Given the description of an element on the screen output the (x, y) to click on. 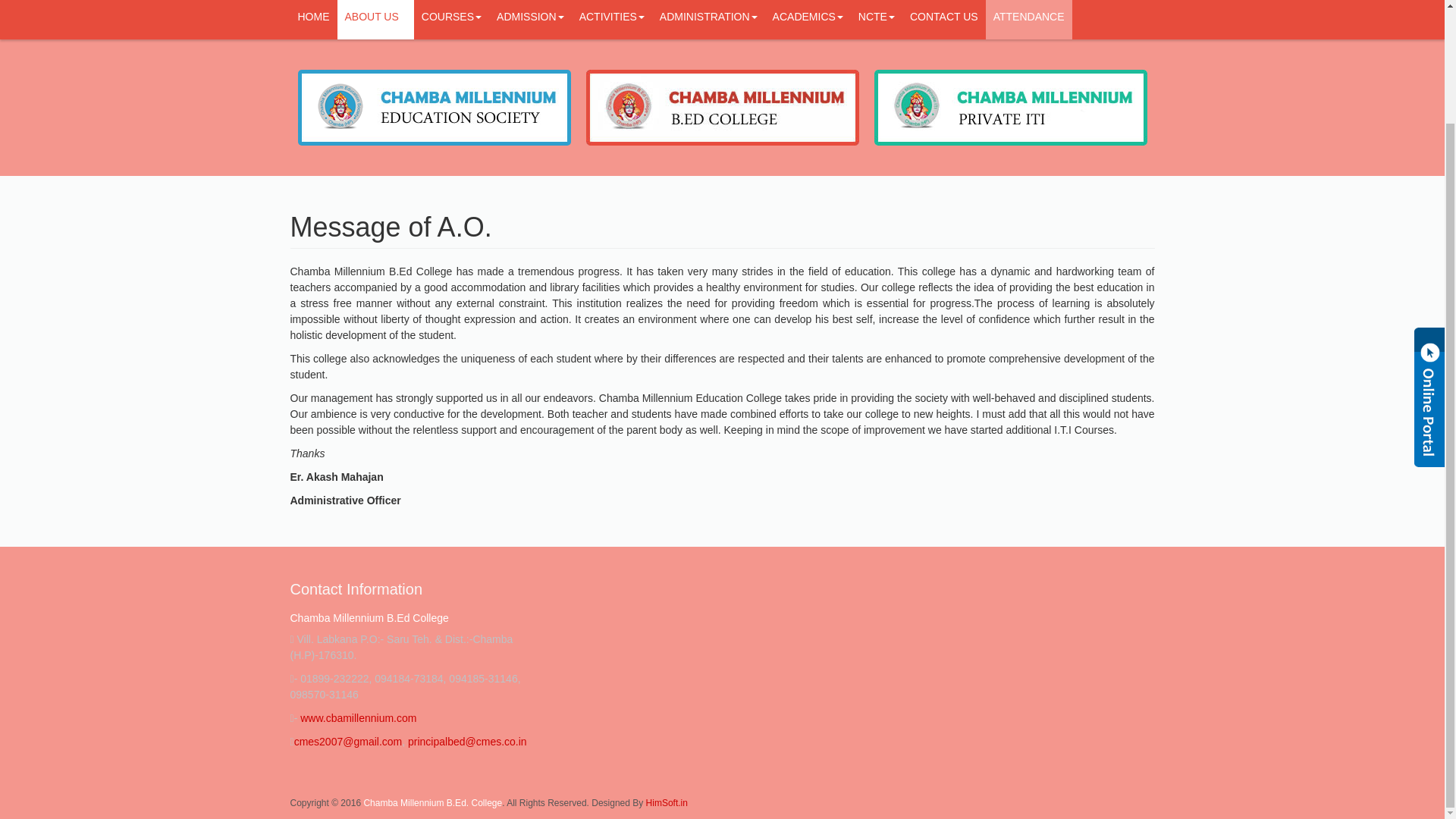
Society (433, 106)
College (722, 106)
ITI (1010, 106)
HOME (312, 19)
